Given the description of an element on the screen output the (x, y) to click on. 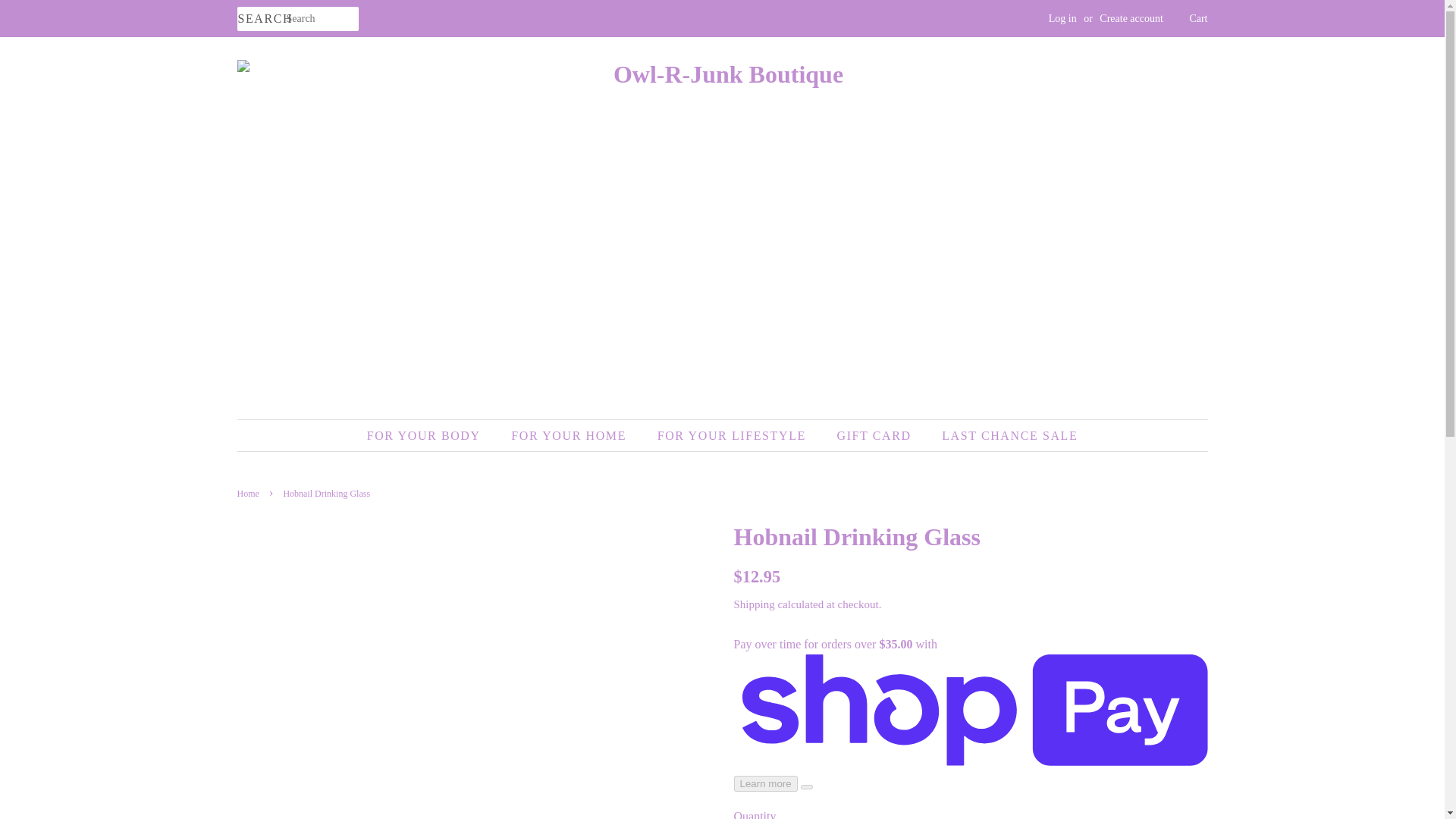
Log in (1062, 18)
Back to the frontpage (248, 493)
Create account (1131, 18)
Cart (1198, 18)
SEARCH (260, 18)
